Given the description of an element on the screen output the (x, y) to click on. 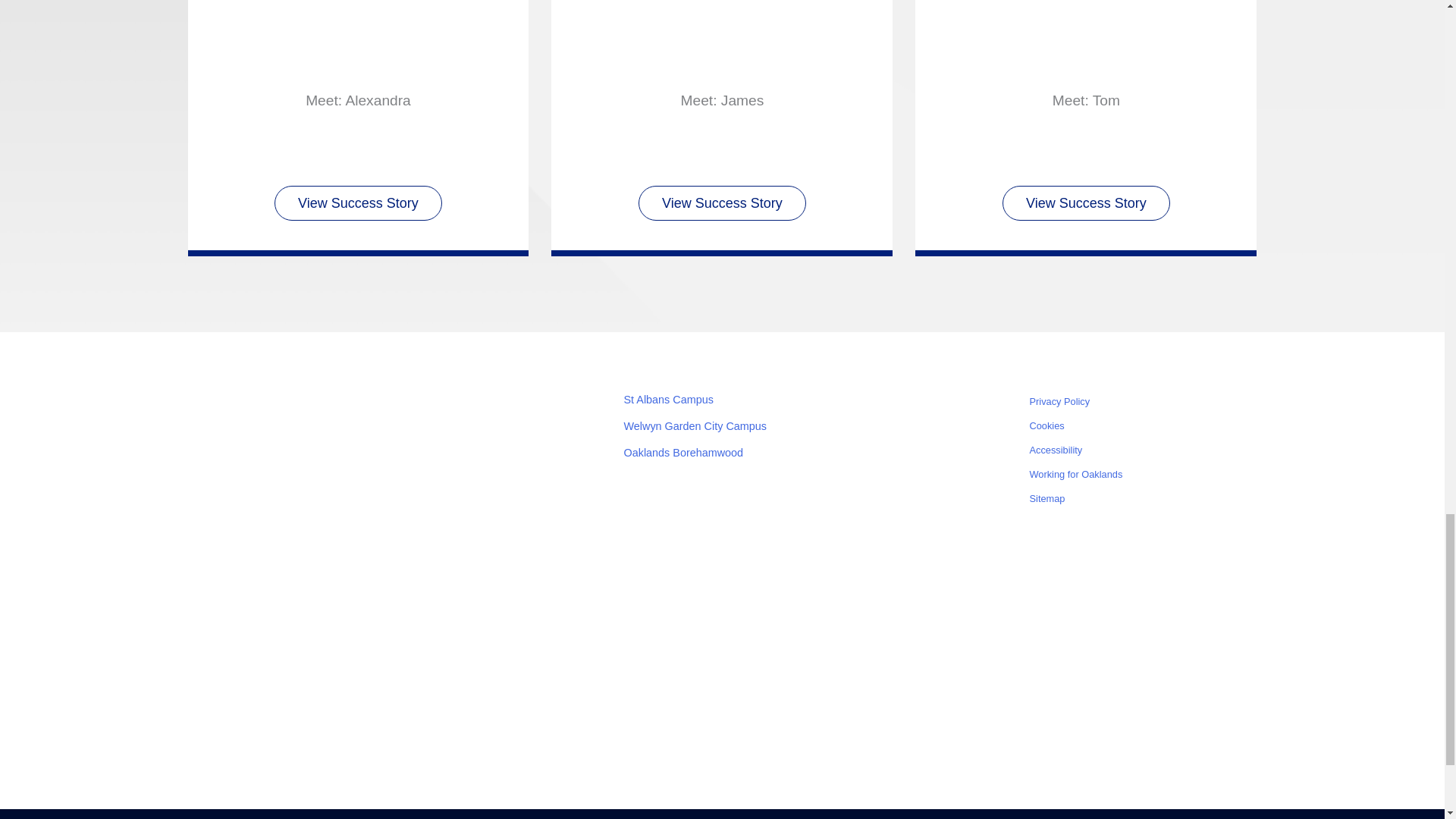
Meet: Tom (1085, 39)
Meet: Alexandra (357, 100)
Meet: James (721, 39)
Meet: James (720, 100)
Meet: Tom (1085, 100)
Meet: Alexandra (358, 39)
